Given the description of an element on the screen output the (x, y) to click on. 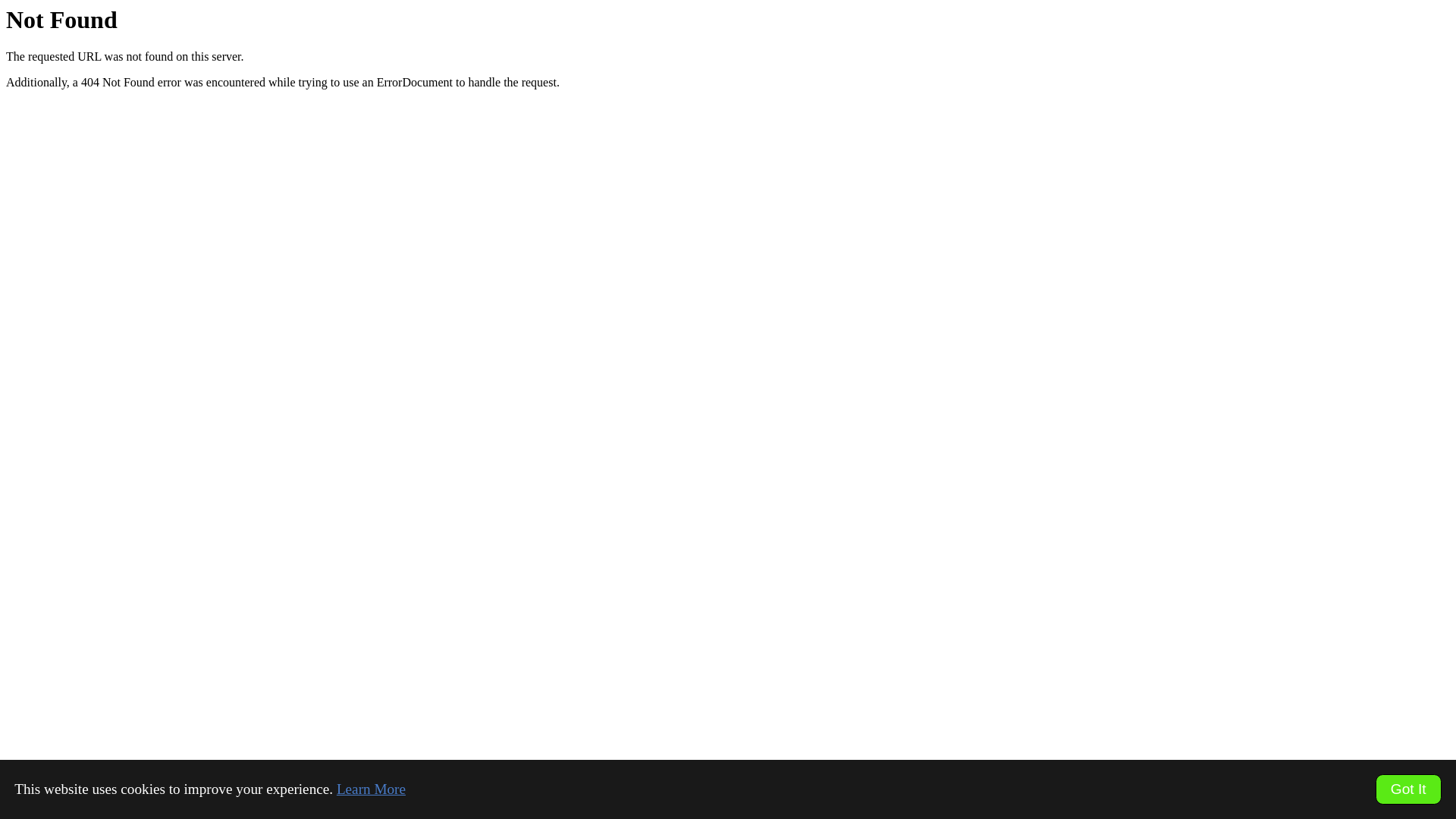
Got It Element type: text (1408, 788)
Learn More Element type: text (370, 789)
